Given the description of an element on the screen output the (x, y) to click on. 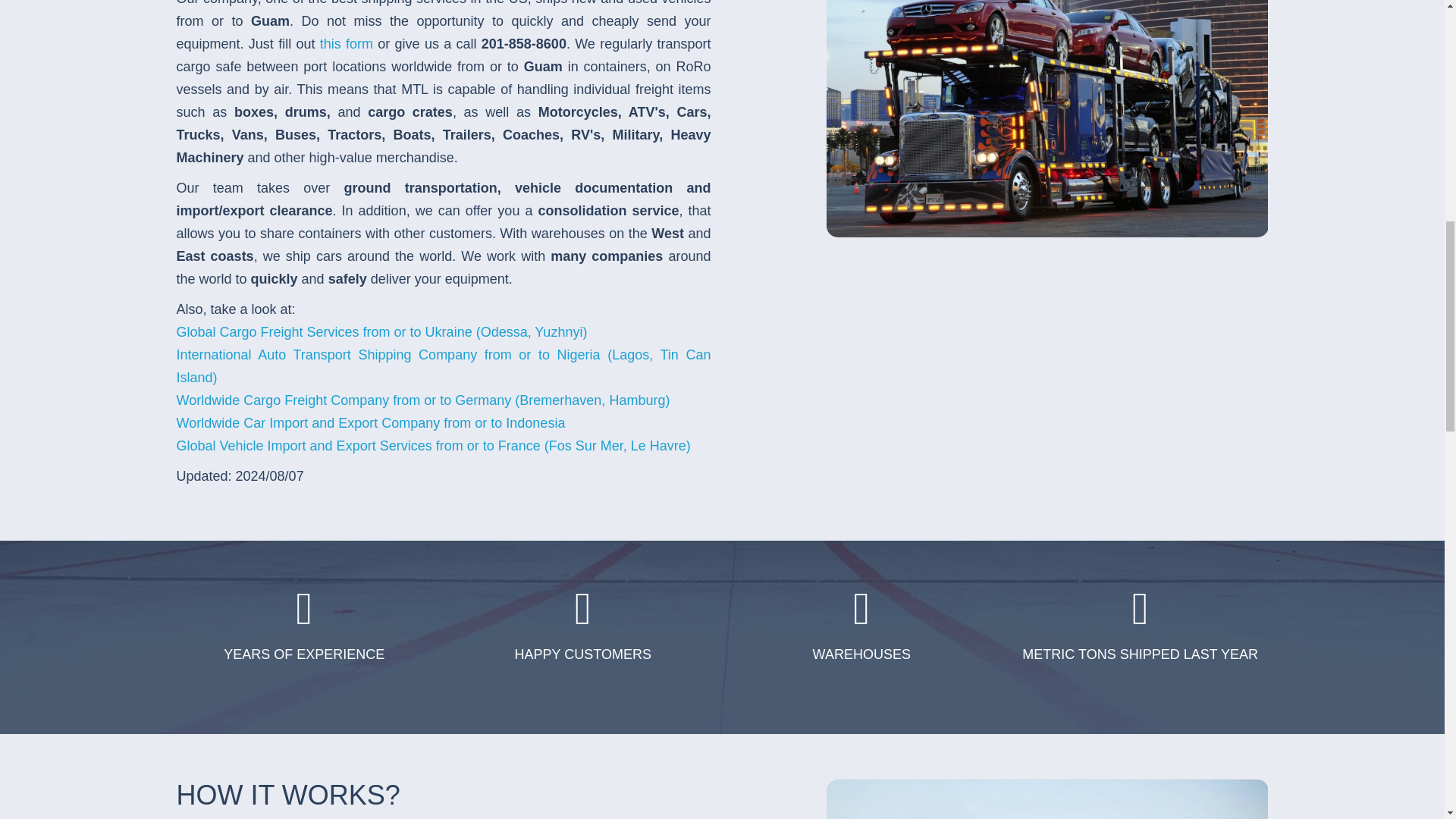
International Vehicle Shipping Company to or from Ukraine (381, 331)
this form (346, 43)
Overseas Cargo Shipping Services to or from Nigeria (443, 365)
Overseas Car Shipping Services to or from France (433, 445)
International Vehicle Freight Services to or from Germany (422, 400)
Worldwide Car Import and Export Company from or to Indonesia (370, 422)
International Car Shipping Company to or from Indonesia (370, 422)
